Given the description of an element on the screen output the (x, y) to click on. 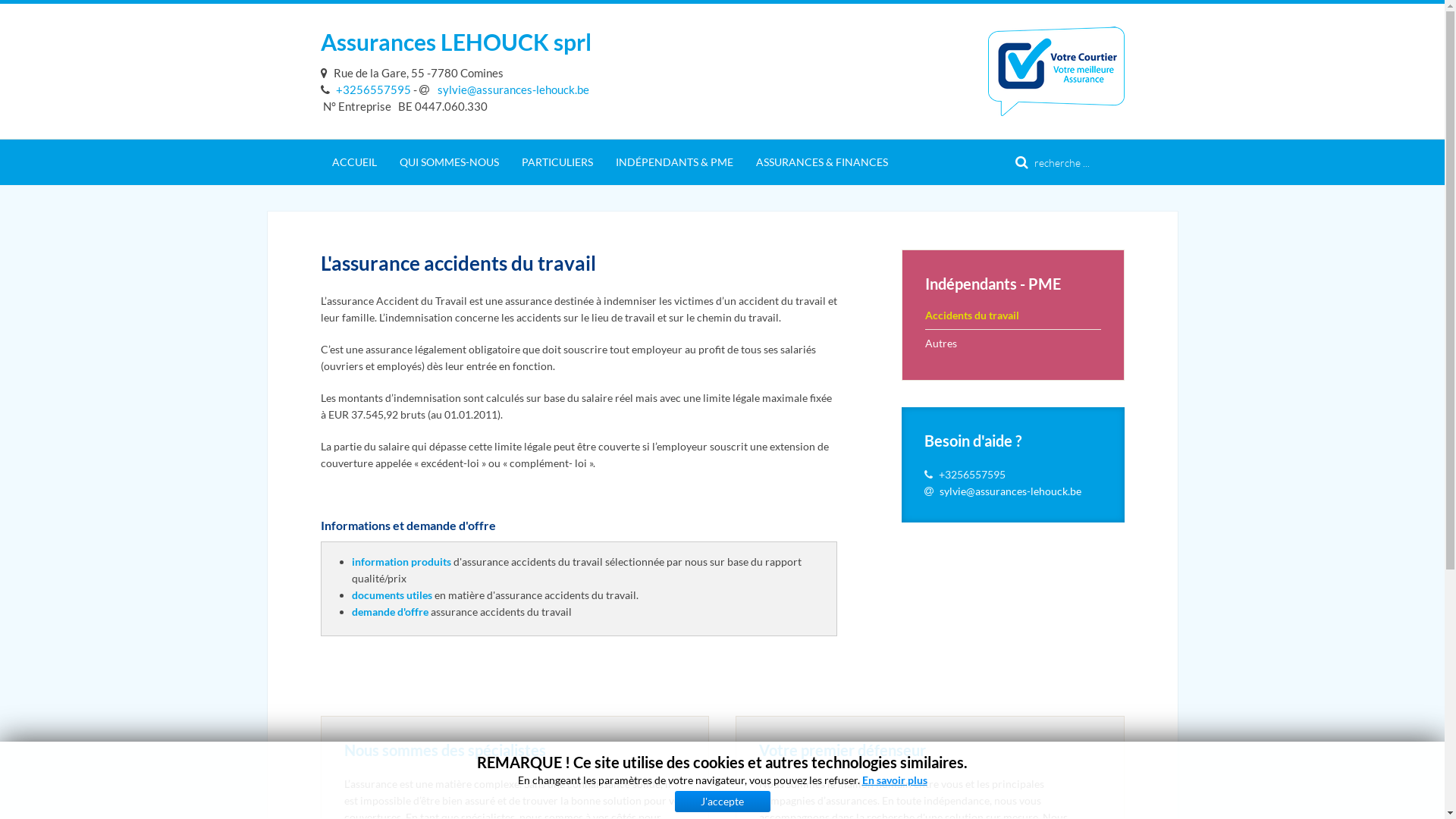
PARTICULIERS Element type: text (556, 162)
QUI SOMMES-NOUS Element type: text (449, 162)
information produits Element type: text (401, 561)
Autres Element type: text (1013, 343)
Assurances LEHOUCK sprl Element type: text (455, 41)
Accidents du travail Element type: text (1013, 315)
documents utiles Element type: text (391, 594)
   sylvie@assurances-lehouck.be Element type: text (503, 89)
demande d'offre Element type: text (389, 611)
ASSURANCES & FINANCES Element type: text (821, 162)
sylvie@assurances-lehouck.be Element type: text (1010, 490)
   Element type: text (326, 72)
  +3256557595 Element type: text (365, 89)
ACCUEIL Element type: text (353, 162)
